Given the description of an element on the screen output the (x, y) to click on. 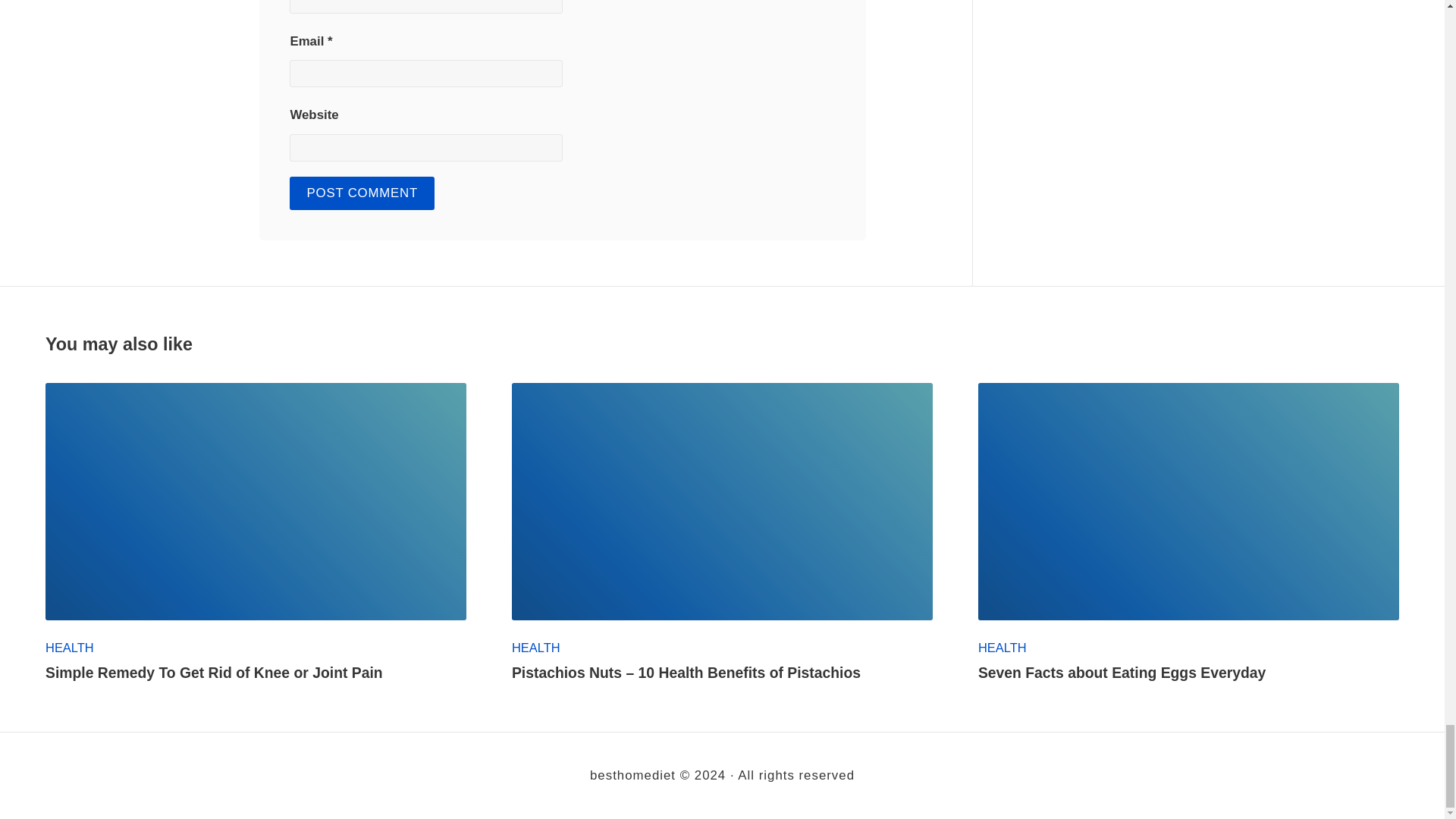
HEALTH (69, 647)
Post Comment (361, 192)
READ FULL POST (255, 501)
Post Comment (361, 192)
